Given the description of an element on the screen output the (x, y) to click on. 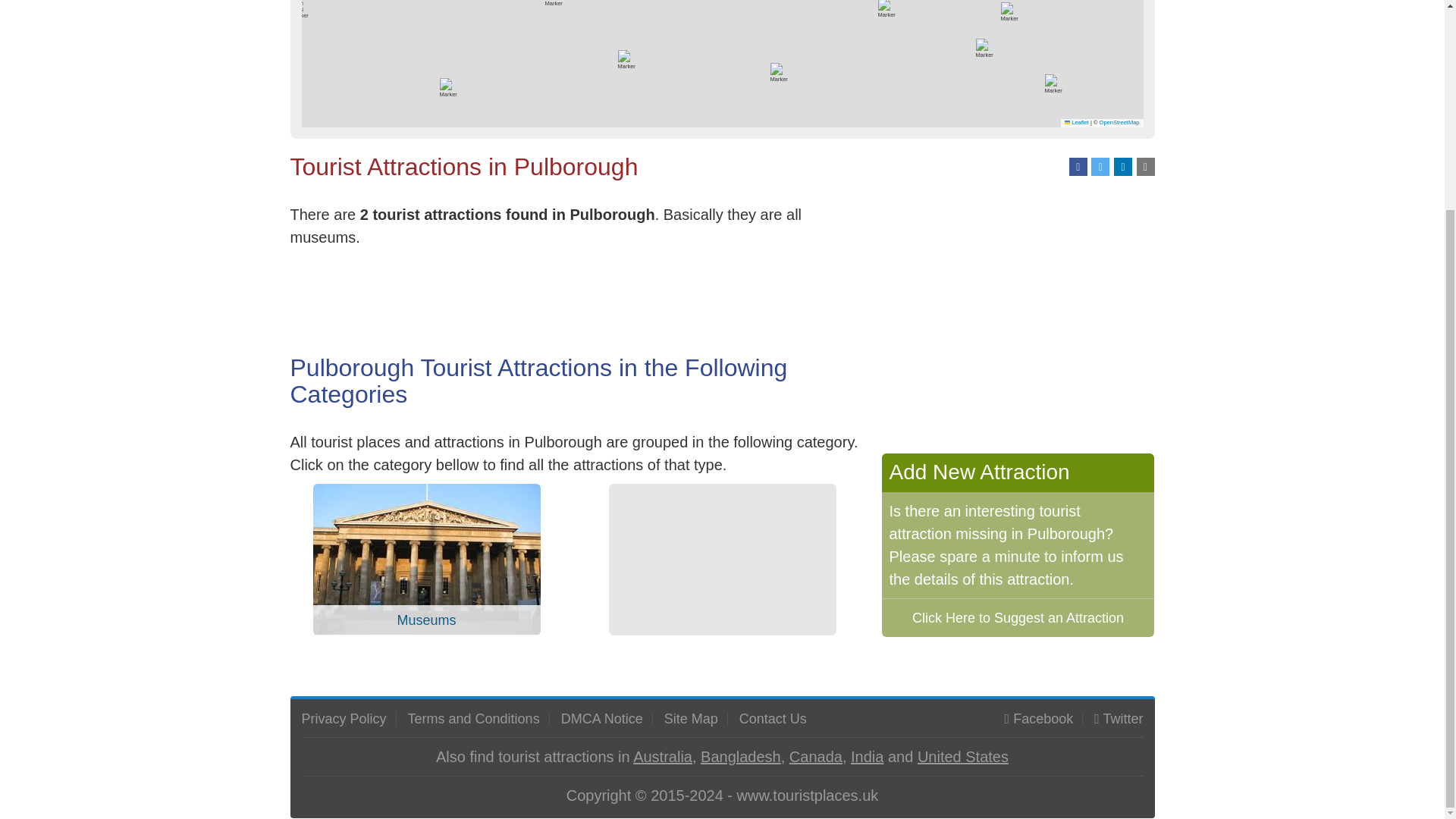
Tourist attractions in Bangladesh (740, 756)
Tourist attractions in India (866, 756)
Leaflet (1076, 122)
Twitter (1122, 718)
Terms and Conditions (473, 718)
Tourist attractions in Canada (816, 756)
United States (963, 756)
OpenStreetMap (1119, 122)
Site Map (690, 718)
Museums (426, 558)
Bangladesh (740, 756)
Canada (816, 756)
Facebook (1043, 718)
Australia (663, 756)
India (866, 756)
